Given the description of an element on the screen output the (x, y) to click on. 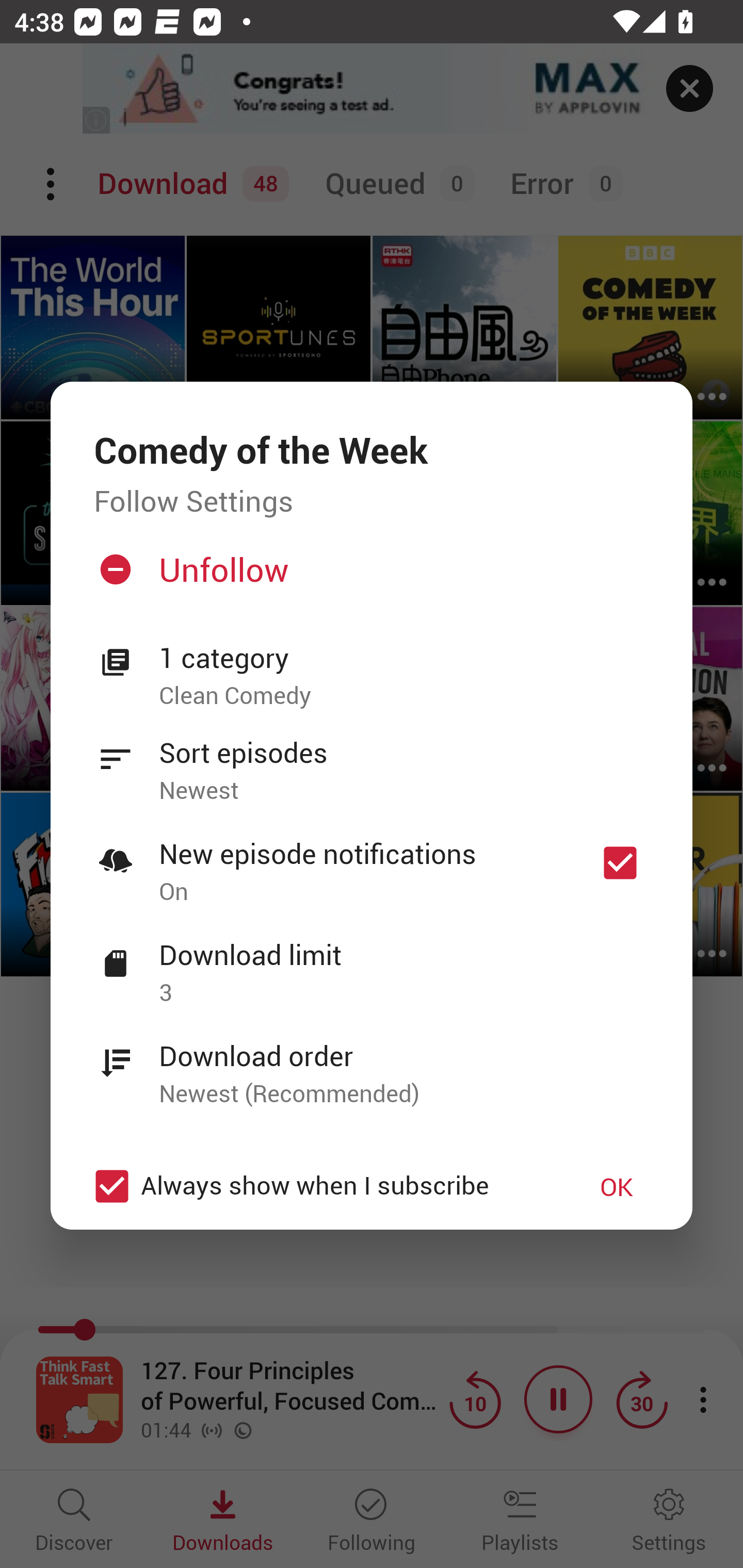
Unfollow (369, 576)
1 category (404, 658)
Clean Comedy (404, 696)
Sort episodes Newest (371, 760)
New episode notifications (620, 863)
Download limit 3 (371, 962)
Download order Newest (Recommended) (371, 1063)
OK (616, 1186)
Always show when I subscribe (320, 1186)
